Given the description of an element on the screen output the (x, y) to click on. 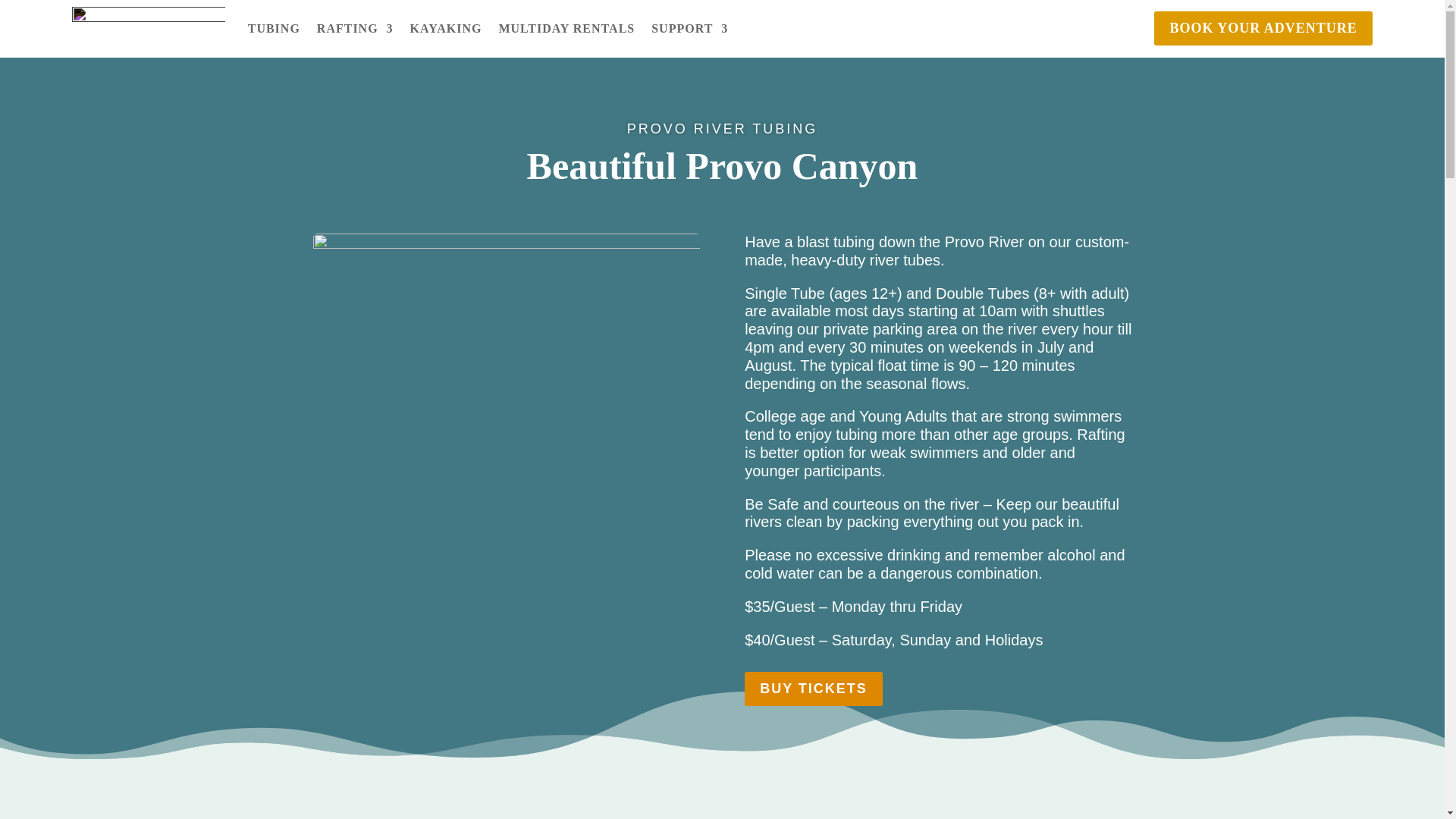
KAYAKING (445, 28)
BOOK YOUR ADVENTURE (1262, 28)
RAFTING (355, 28)
MULTIDAY RENTALS (565, 28)
BUY TICKETS (813, 688)
TUBING (273, 28)
SUPPORT (689, 28)
